Given the description of an element on the screen output the (x, y) to click on. 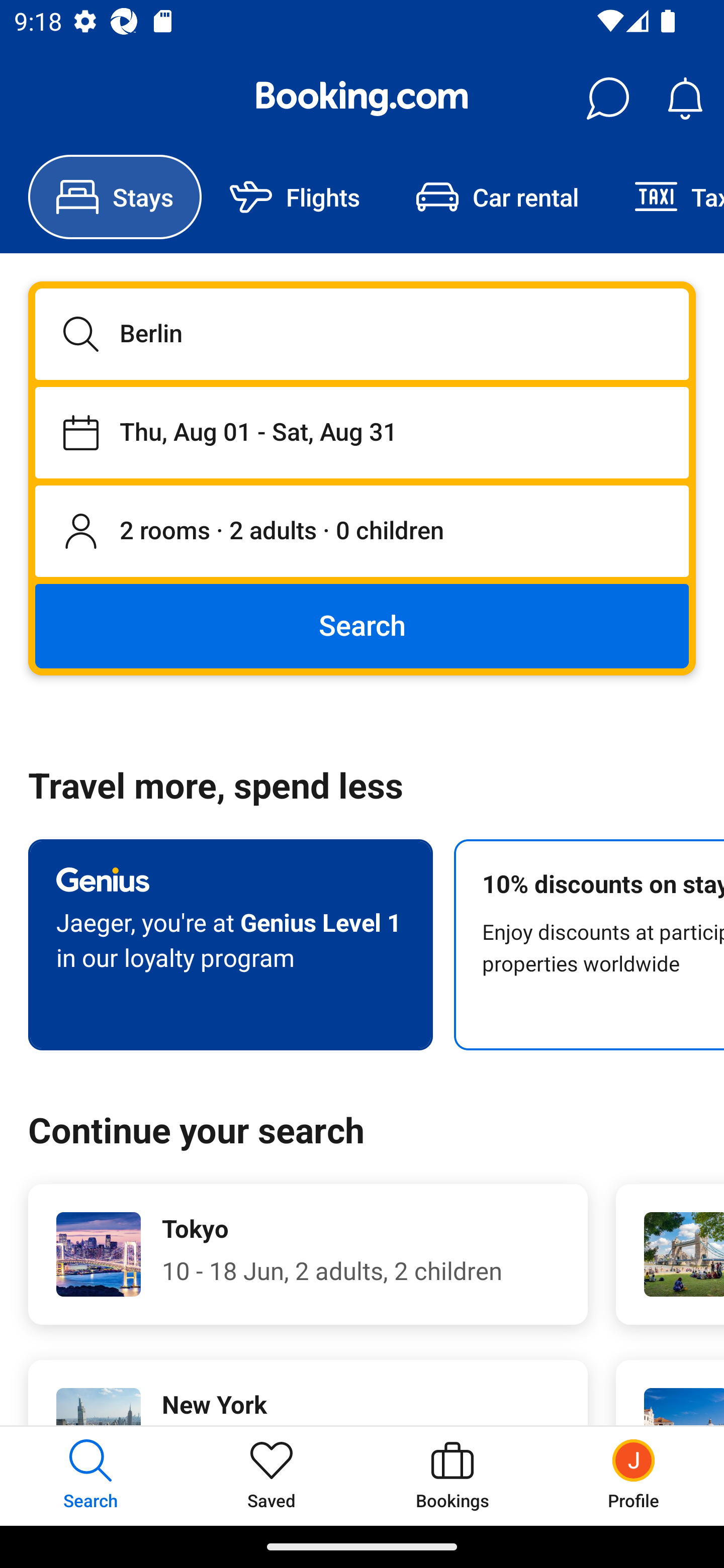
Messages (607, 98)
Notifications (685, 98)
Stays (114, 197)
Flights (294, 197)
Car rental (497, 197)
Taxi (665, 197)
Berlin (361, 333)
Staying from Thu, Aug 01 until Sat, Aug 31 (361, 432)
2 rooms, 2 adults, 0 children (361, 531)
Search (361, 625)
Tokyo 10 - 18 Jun, 2 adults, 2 children (307, 1253)
Saved (271, 1475)
Bookings (452, 1475)
Profile (633, 1475)
